Given the description of an element on the screen output the (x, y) to click on. 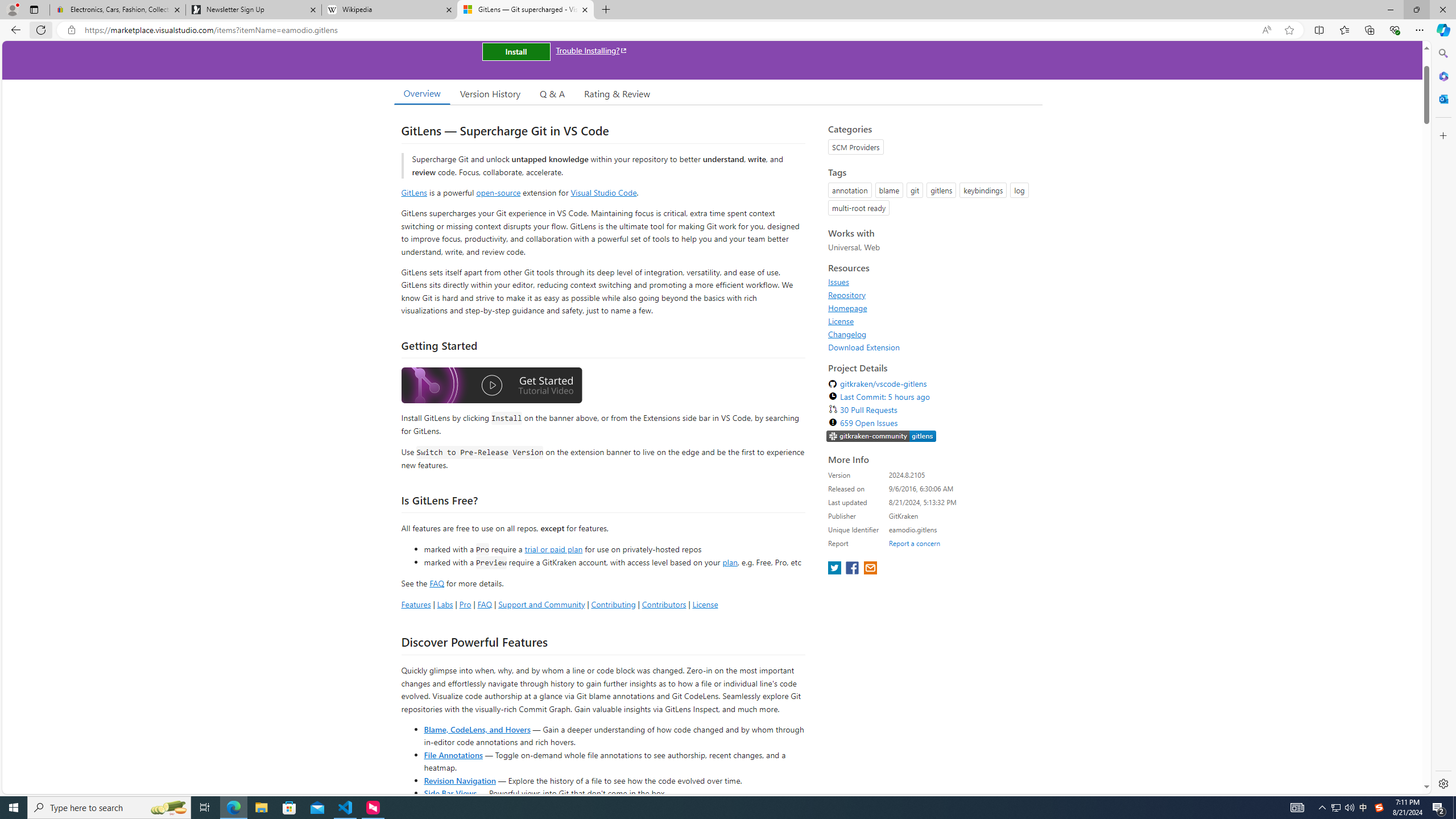
License (840, 320)
Side Bar Views (449, 792)
trial or paid plan (553, 548)
Pro (464, 603)
Wikipedia (390, 9)
open-source (498, 192)
